Given the description of an element on the screen output the (x, y) to click on. 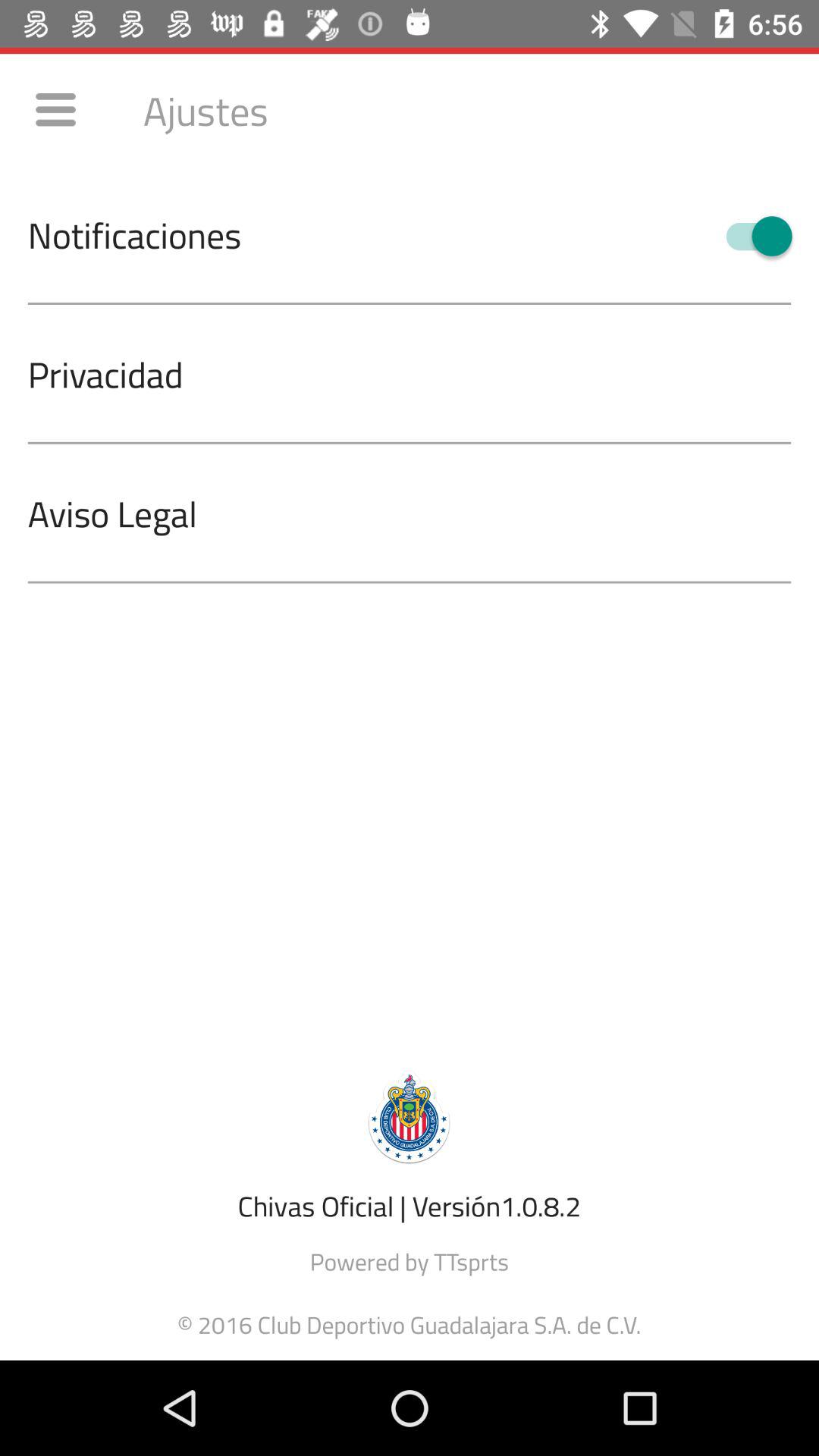
swipe to the privacidad (423, 373)
